Given the description of an element on the screen output the (x, y) to click on. 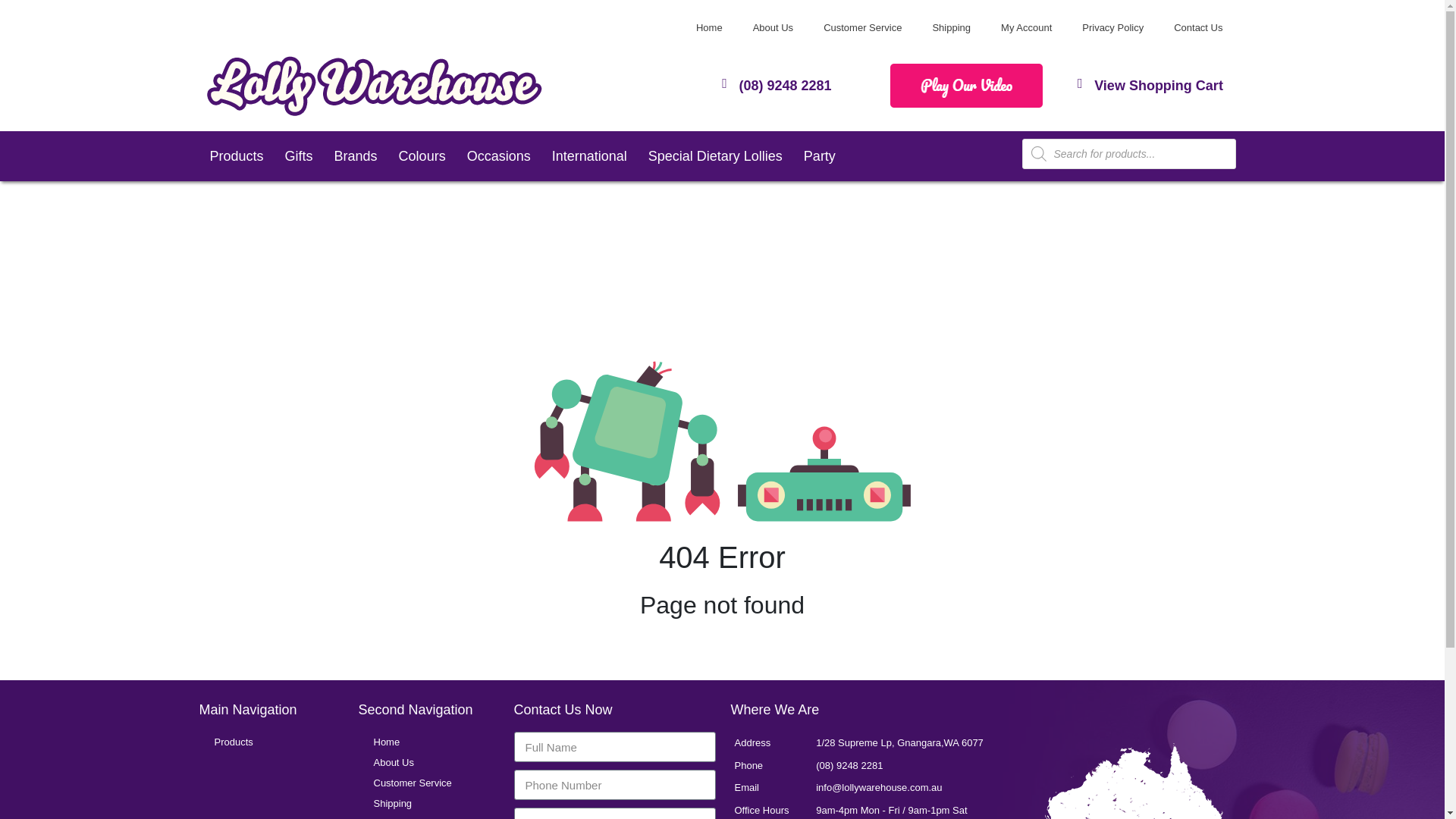
About Us (773, 27)
Shipping (951, 27)
Home (709, 27)
Privacy Policy (1112, 27)
Contact Us (1197, 27)
View Shopping Cart (1158, 84)
Products (235, 155)
My Account (1026, 27)
Customer Service (862, 27)
